Given the description of an element on the screen output the (x, y) to click on. 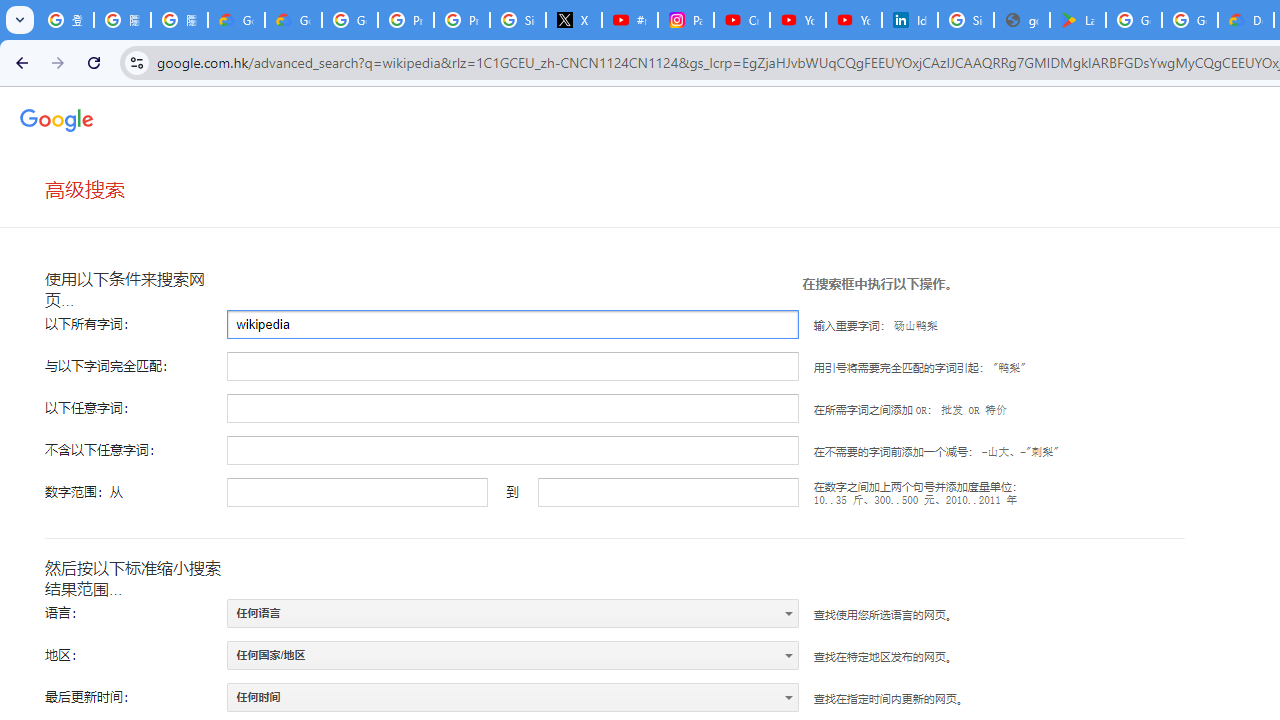
Google Workspace - Specific Terms (1190, 20)
Last Shelter: Survival - Apps on Google Play (1077, 20)
Google Cloud Privacy Notice (235, 20)
Privacy Help Center - Policies Help (461, 20)
Sign in - Google Accounts (966, 20)
